Given the description of an element on the screen output the (x, y) to click on. 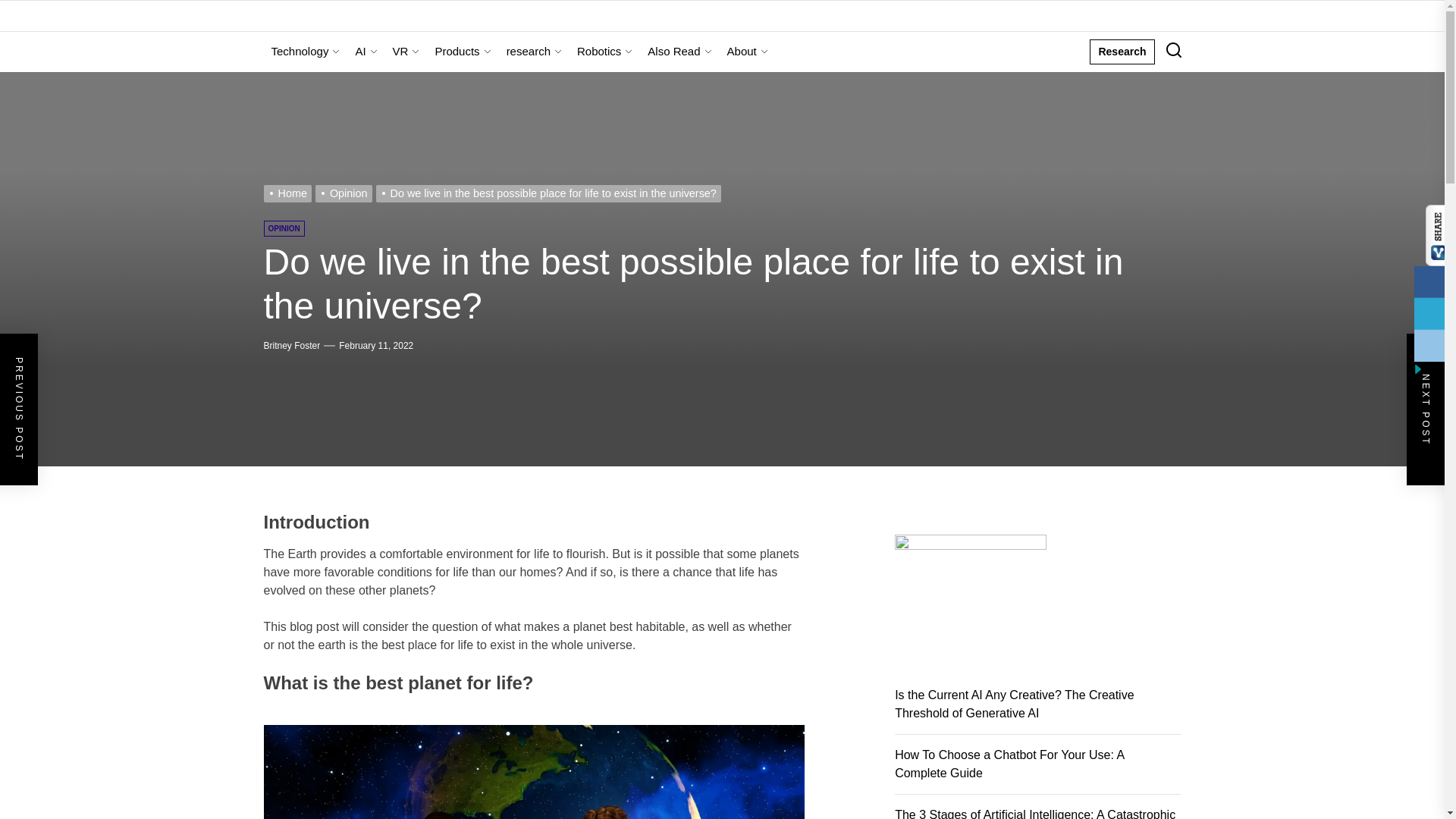
VR (406, 51)
Technology (305, 51)
Products (461, 51)
NUTSEL (828, 47)
AI (365, 51)
